Given the description of an element on the screen output the (x, y) to click on. 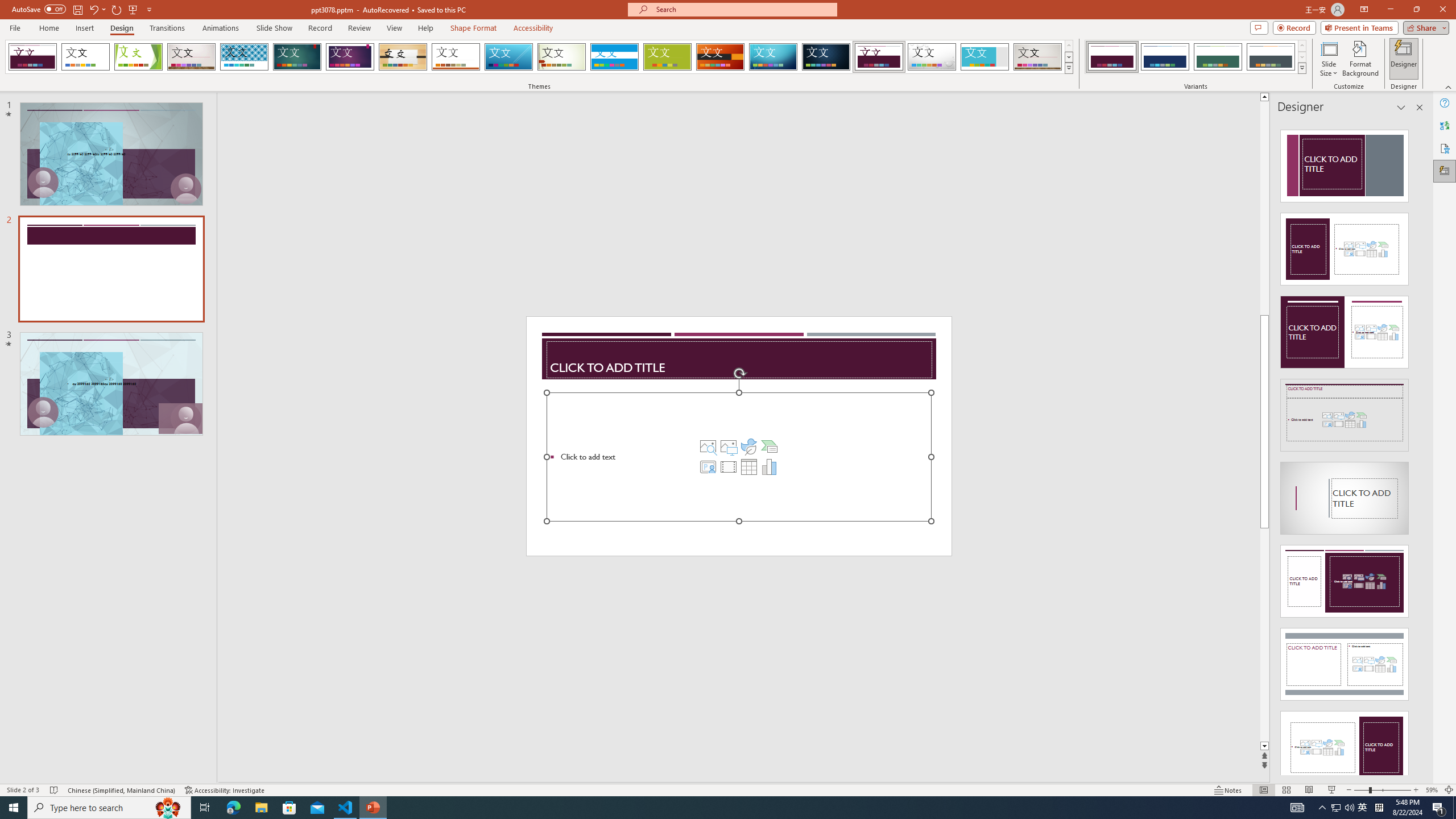
Integral (244, 56)
Pictures (728, 446)
Dividend Variant 4 (1270, 56)
AutomationID: ThemeVariantsGallery (1195, 56)
Gallery (1037, 56)
Facet (138, 56)
